Given the description of an element on the screen output the (x, y) to click on. 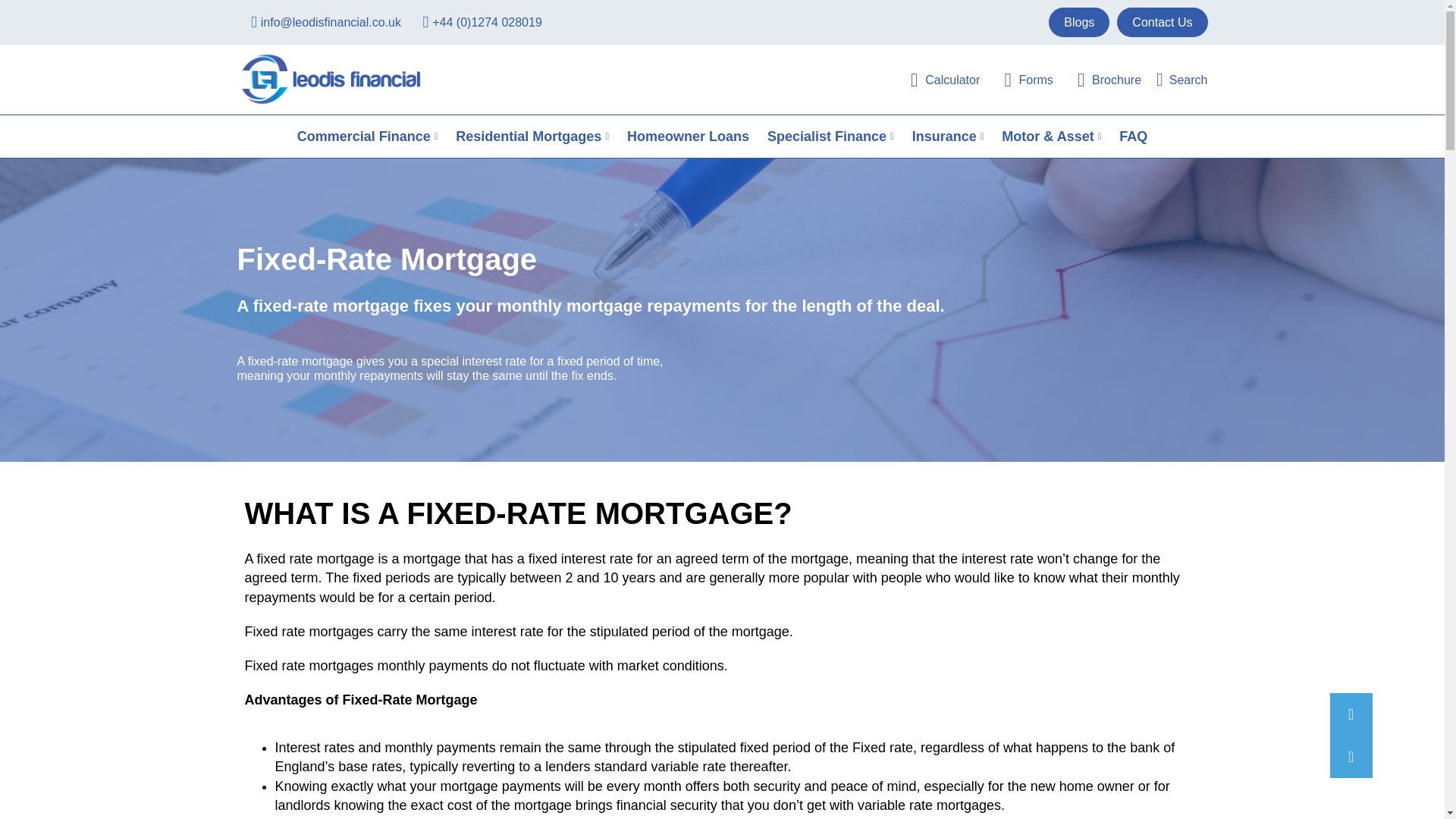
Forms (1019, 79)
Contact Us (1161, 21)
Calculator (936, 79)
Blogs (1078, 21)
Brochure (1101, 79)
